Given the description of an element on the screen output the (x, y) to click on. 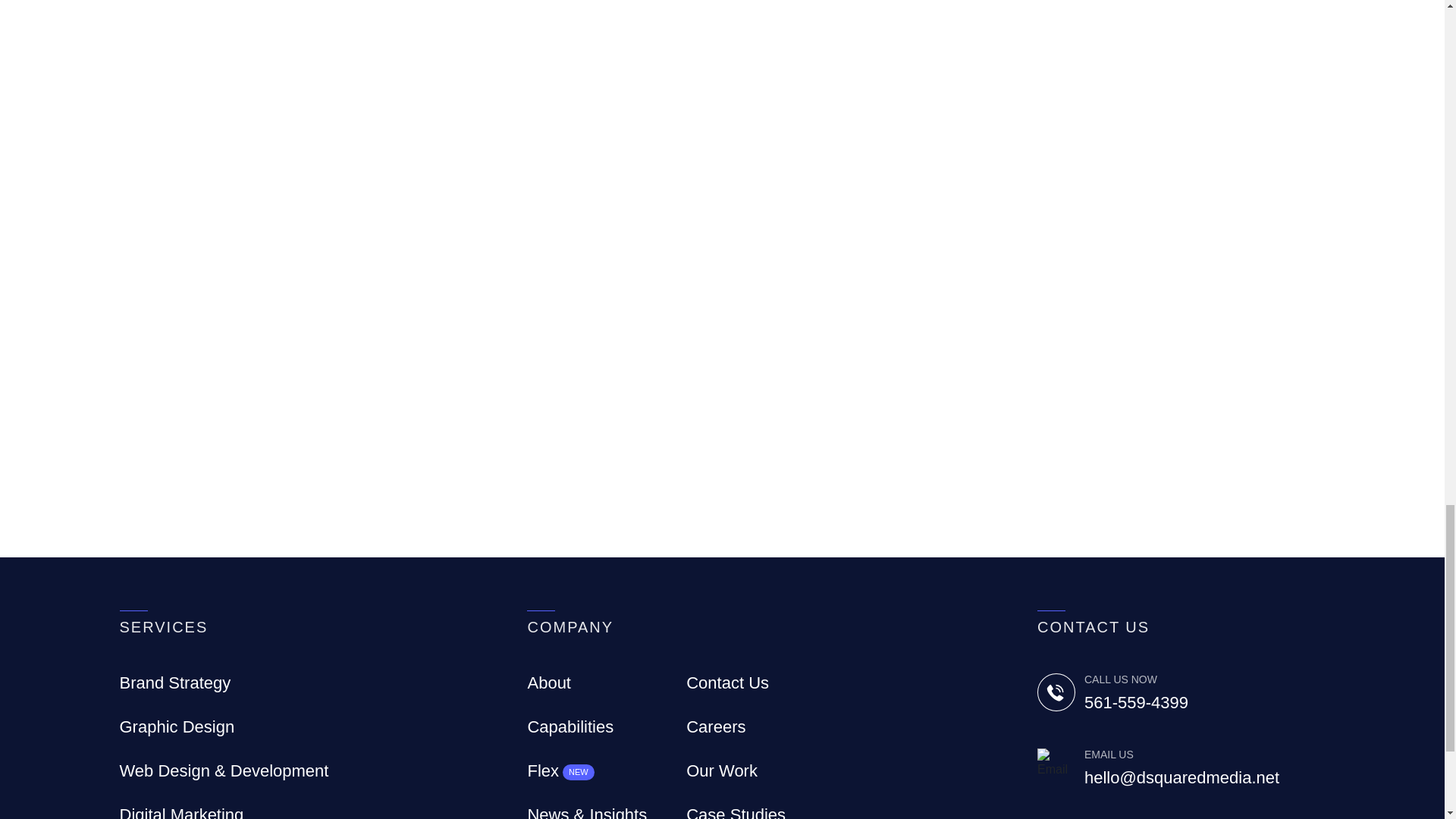
About (548, 682)
Case Studies (735, 812)
FlexNEW (560, 770)
561-559-4399  (1204, 702)
Careers (715, 726)
Brand Strategy (175, 682)
Capabilities (569, 726)
Graphic Design (176, 726)
Digital Marketing (181, 812)
Our Work (721, 770)
